Given the description of an element on the screen output the (x, y) to click on. 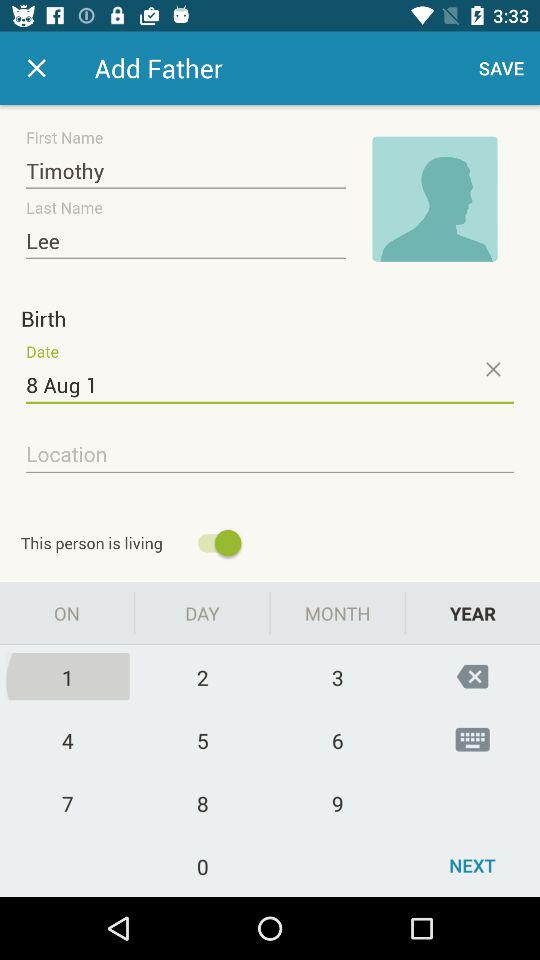
add photo (435, 199)
